Given the description of an element on the screen output the (x, y) to click on. 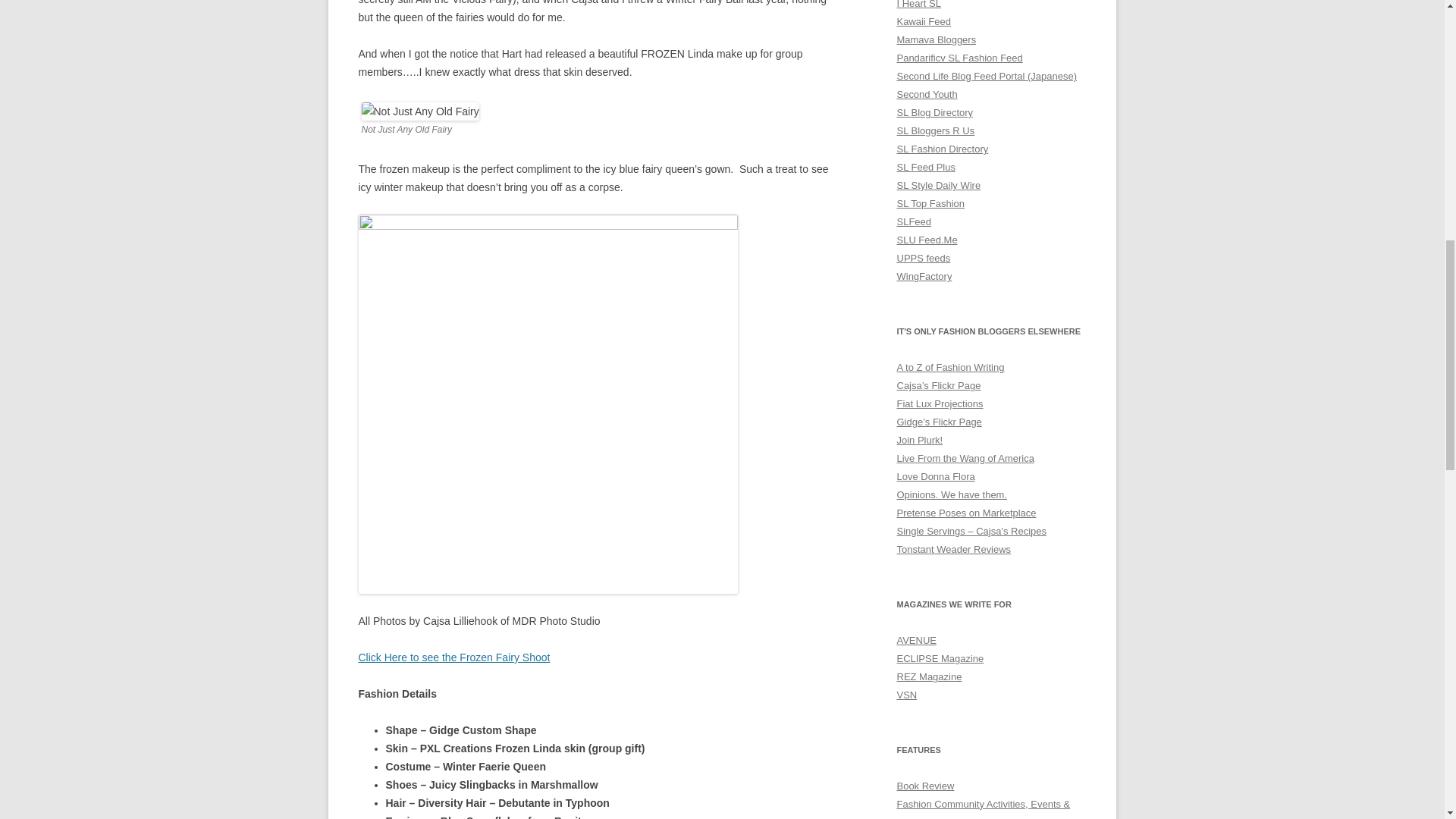
Click Here to see the Frozen Fairy Shoot (454, 657)
Email Address (1348, 167)
Sign me up! (1312, 196)
Op-eds on first and second life.  (951, 494)
